Given the description of an element on the screen output the (x, y) to click on. 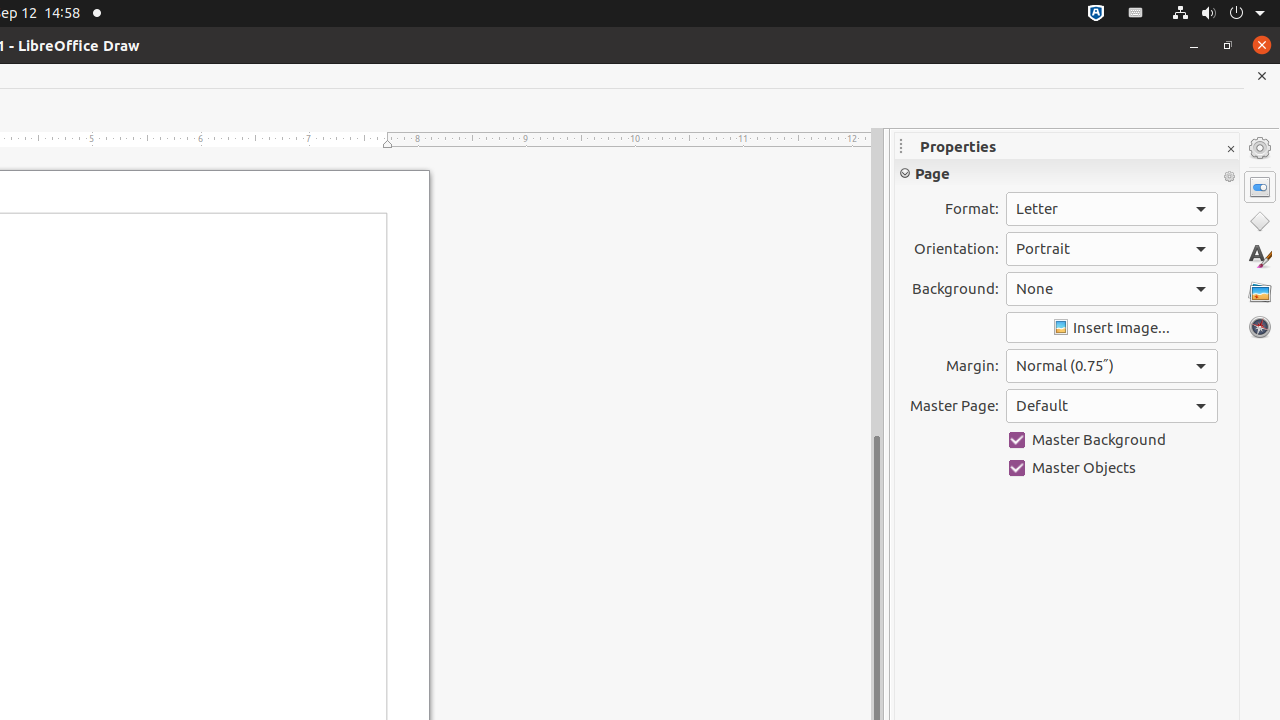
Master Background Element type: check-box (1112, 440)
Margin: Element type: combo-box (1112, 366)
More Options Element type: push-button (1229, 177)
Orientation: Element type: combo-box (1112, 249)
Close Sidebar Deck Element type: push-button (1230, 149)
